Given the description of an element on the screen output the (x, y) to click on. 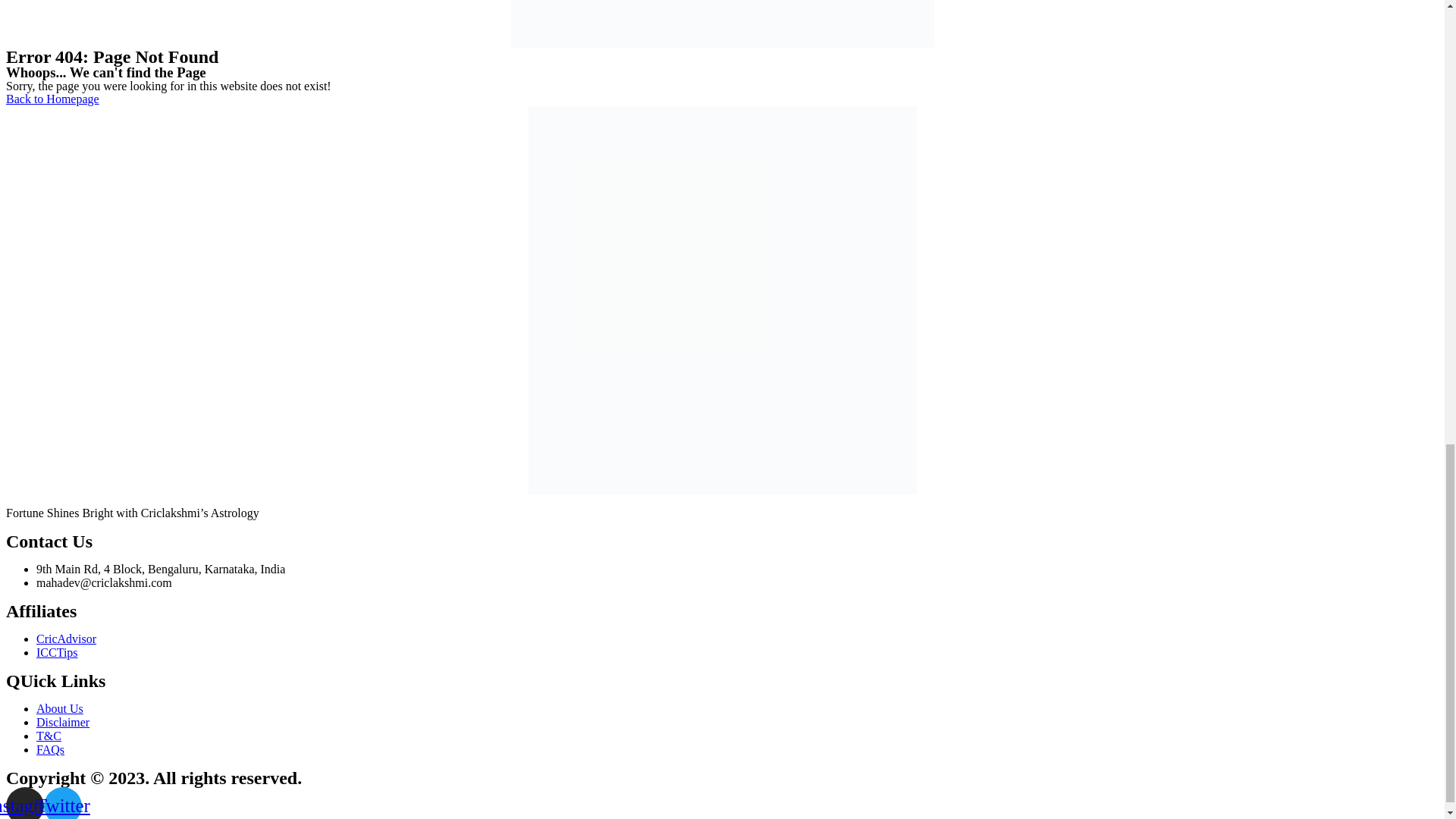
About Us (59, 707)
Back to Homepage (52, 98)
FAQs (50, 748)
CricAdvisor (66, 638)
ICCTips (57, 652)
Disclaimer (62, 721)
